Given the description of an element on the screen output the (x, y) to click on. 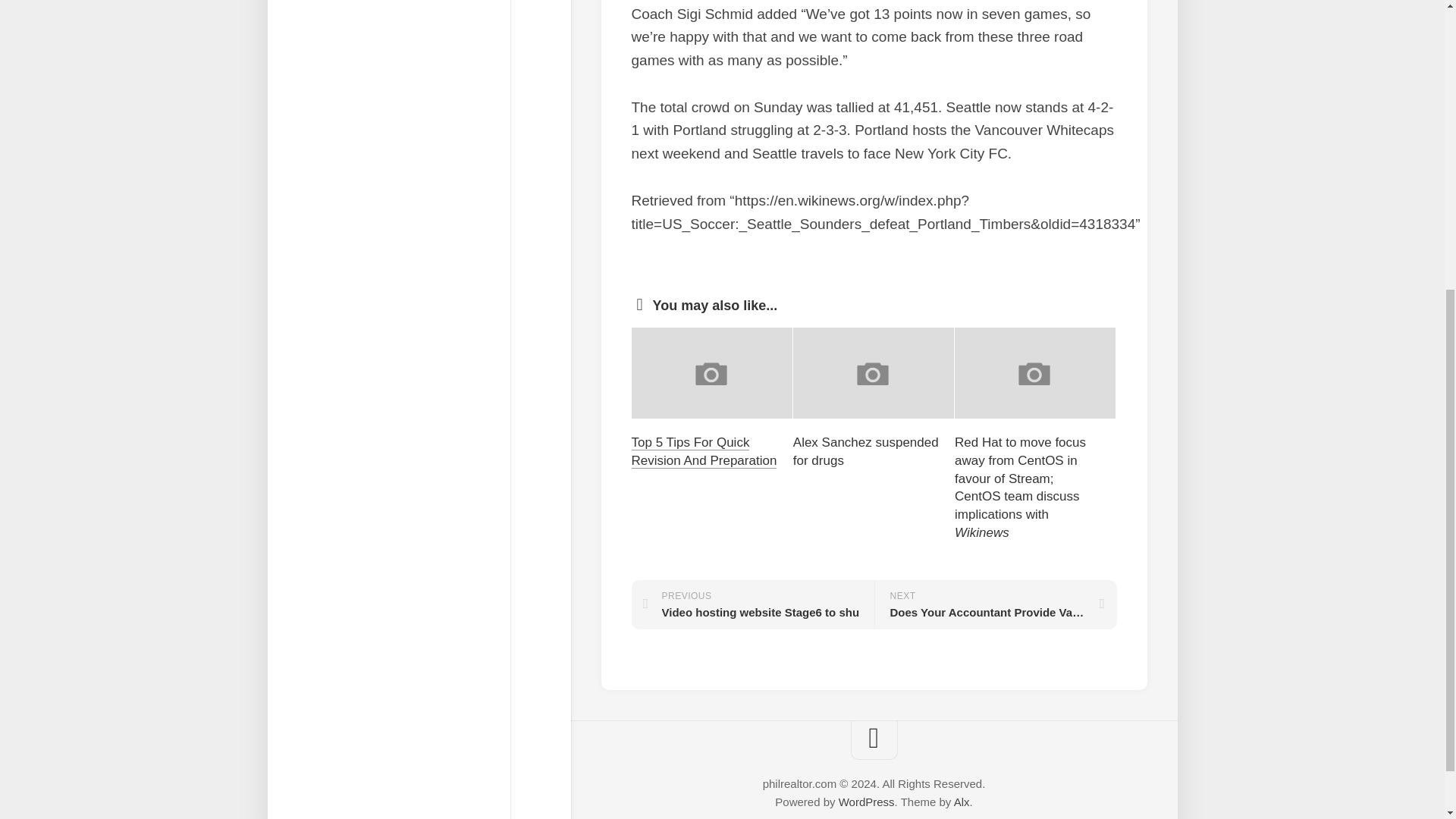
WordPress (866, 801)
Alex Sanchez suspended for drugs (751, 604)
Top 5 Tips For Quick Revision And Preparation (866, 452)
Alx (703, 450)
